Given the description of an element on the screen output the (x, y) to click on. 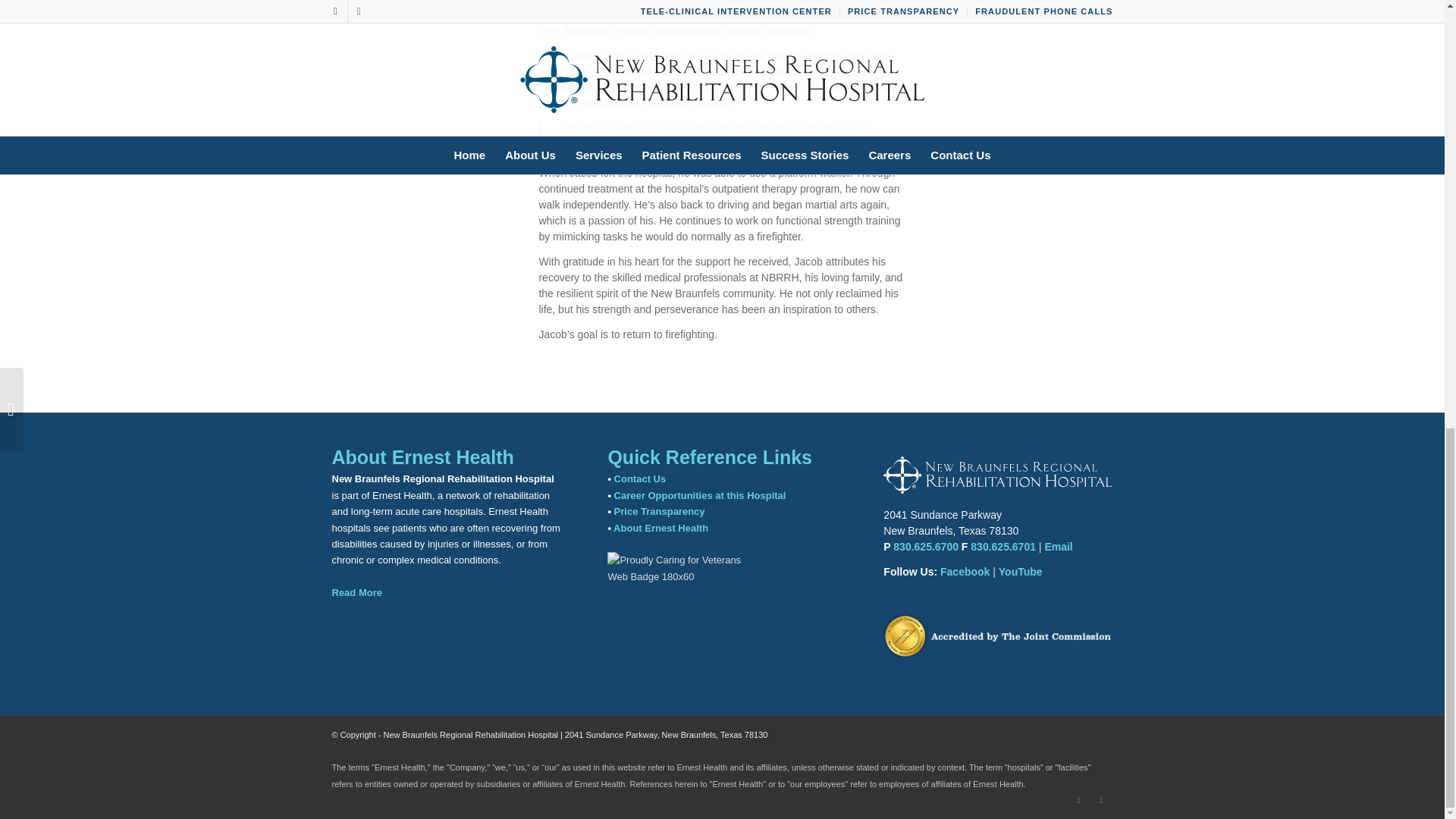
Youtube (1101, 799)
Facebook (1078, 799)
